Given the description of an element on the screen output the (x, y) to click on. 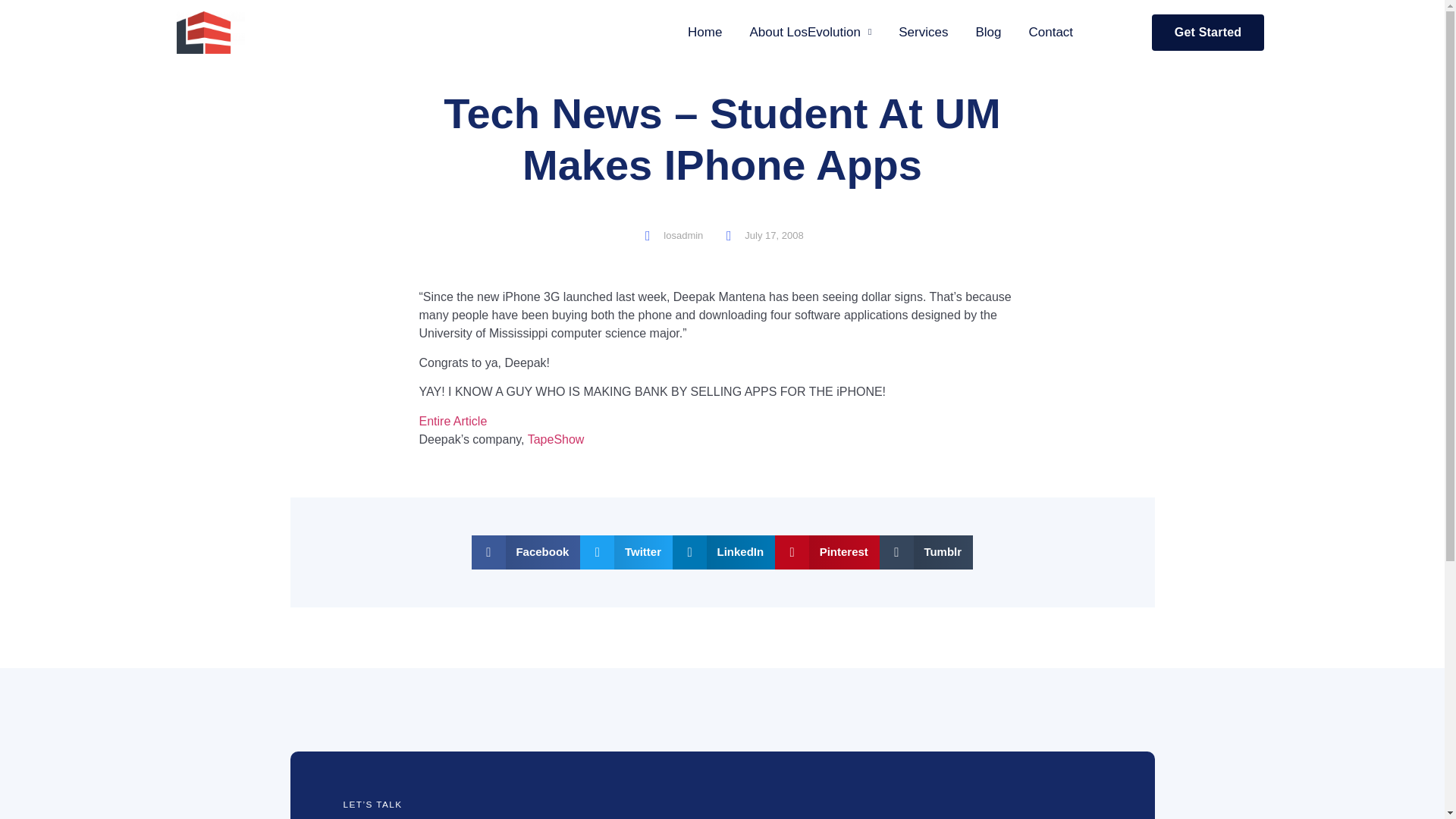
Get Started (1207, 32)
Entire Article (452, 420)
losadmin (671, 235)
Blog (987, 32)
Home (704, 32)
About LosEvolution (810, 32)
Contact (1050, 32)
TapeShow (556, 439)
Services (922, 32)
July 17, 2008 (762, 235)
